Given the description of an element on the screen output the (x, y) to click on. 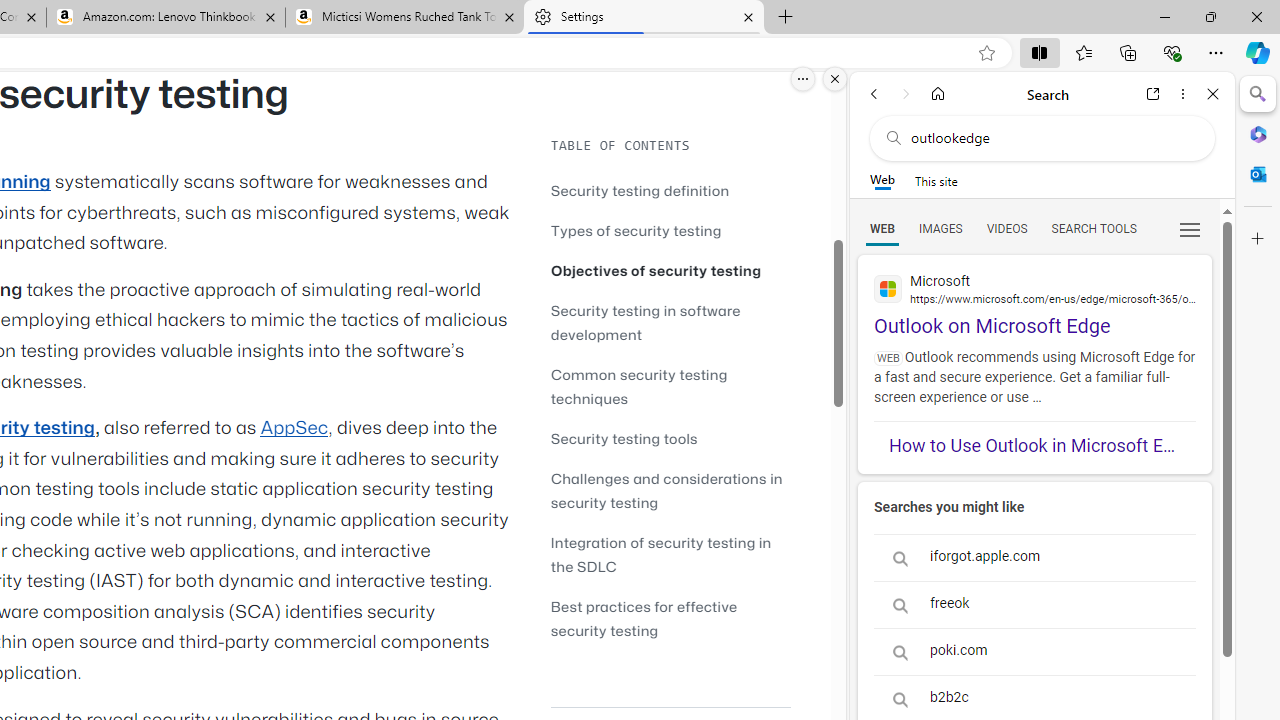
This site scope (936, 180)
Security testing in software development (645, 321)
Security testing tools (623, 438)
Challenges and considerations in security testing (670, 489)
Search the web (1051, 137)
Integration of security testing in the SDLC (670, 553)
SEARCH TOOLS (1093, 228)
